Given the description of an element on the screen output the (x, y) to click on. 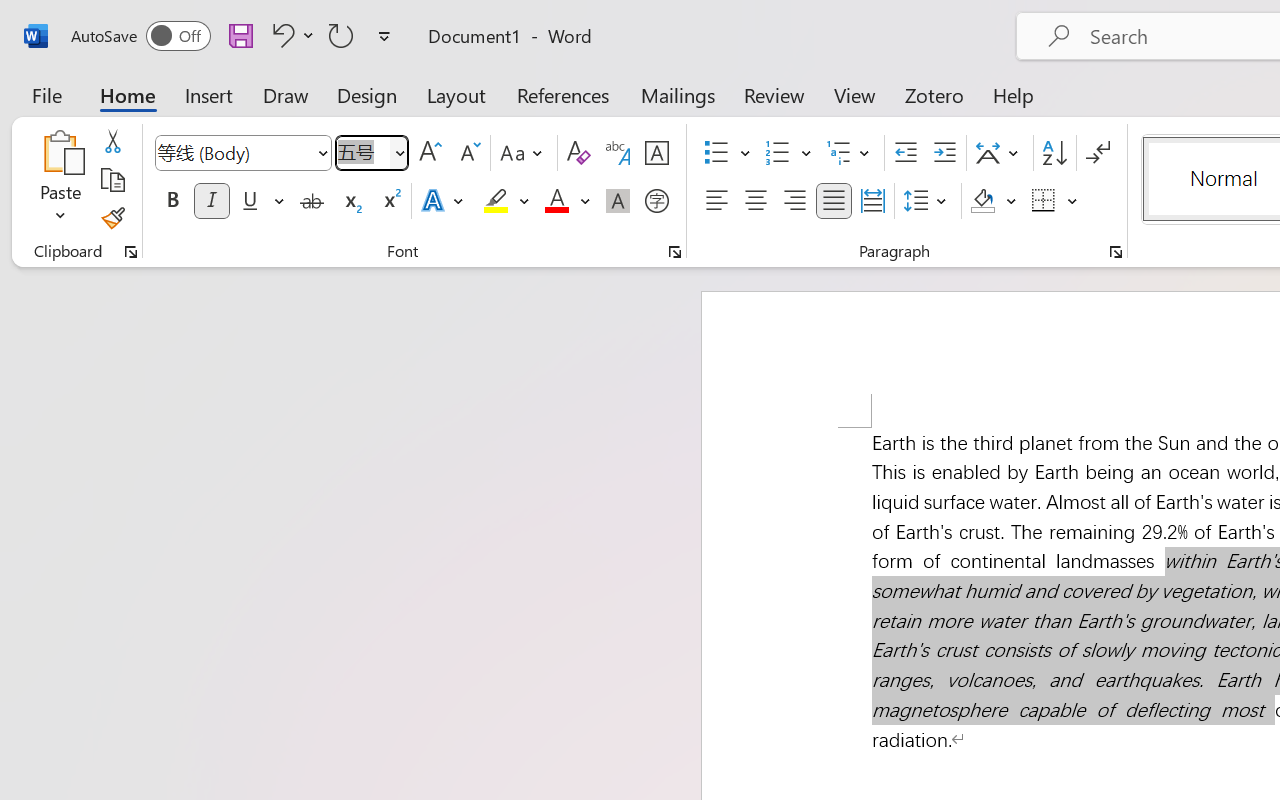
Font Color Red (556, 201)
Enclose Characters... (656, 201)
Italic (212, 201)
Bold (172, 201)
Grow Font (430, 153)
Align Left (716, 201)
Shading (993, 201)
